Given the description of an element on the screen output the (x, y) to click on. 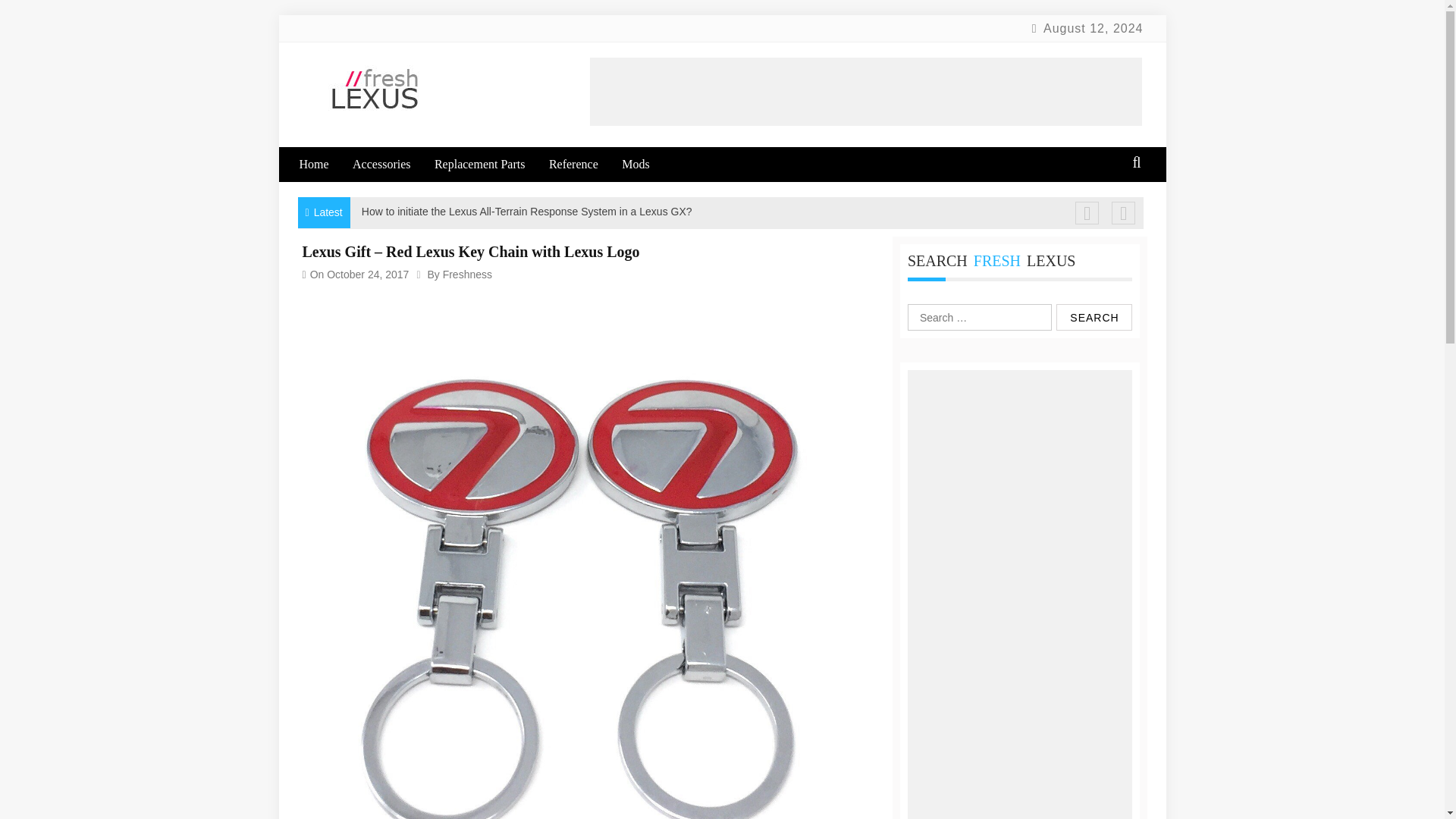
Replacement Parts (489, 163)
Search (1094, 316)
October 24, 2017 (367, 274)
Accessories (391, 163)
Reference (583, 163)
Mods (645, 163)
Freshness (467, 274)
Home (323, 163)
